Given the description of an element on the screen output the (x, y) to click on. 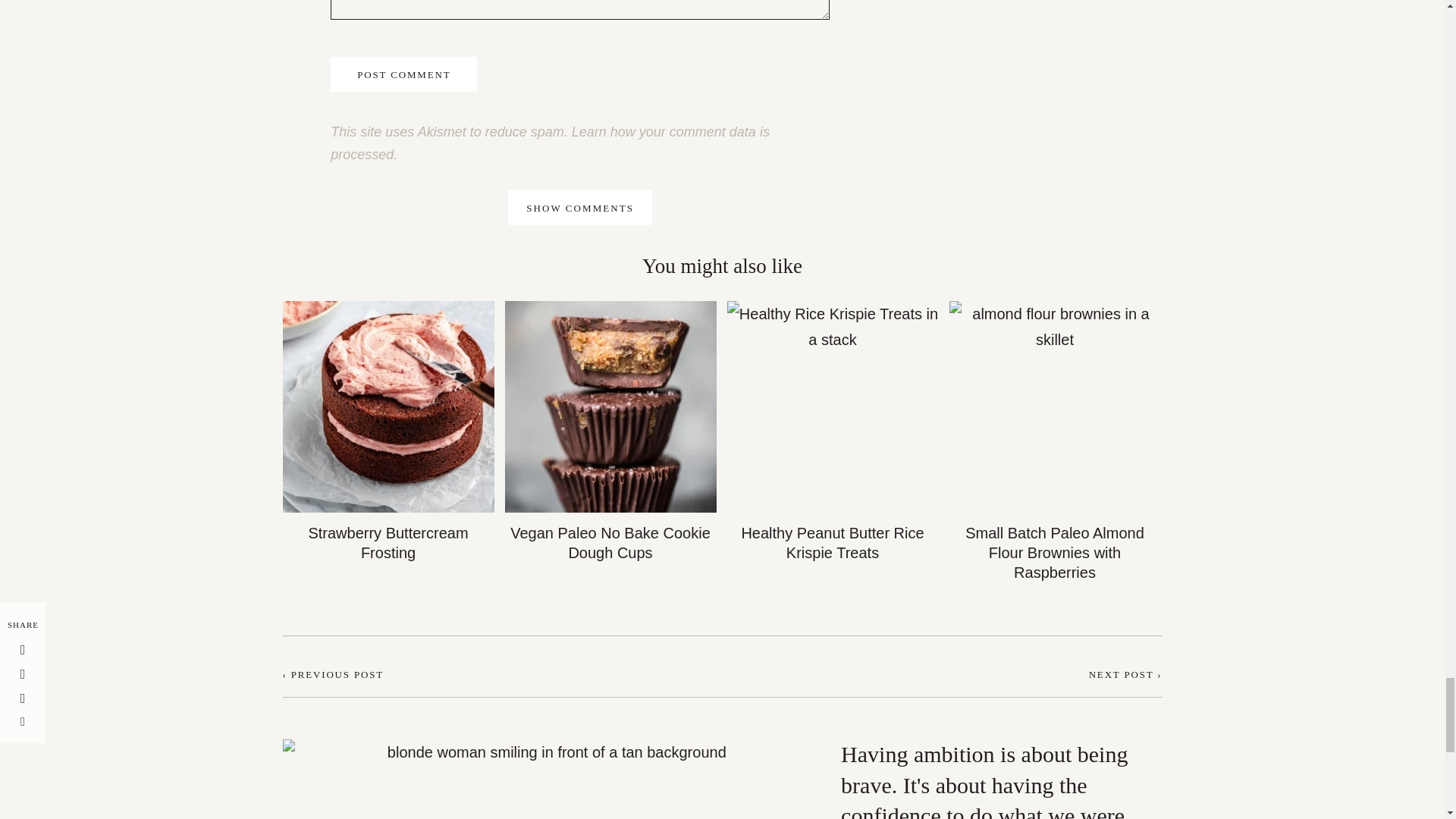
Post Comment (403, 73)
